Given the description of an element on the screen output the (x, y) to click on. 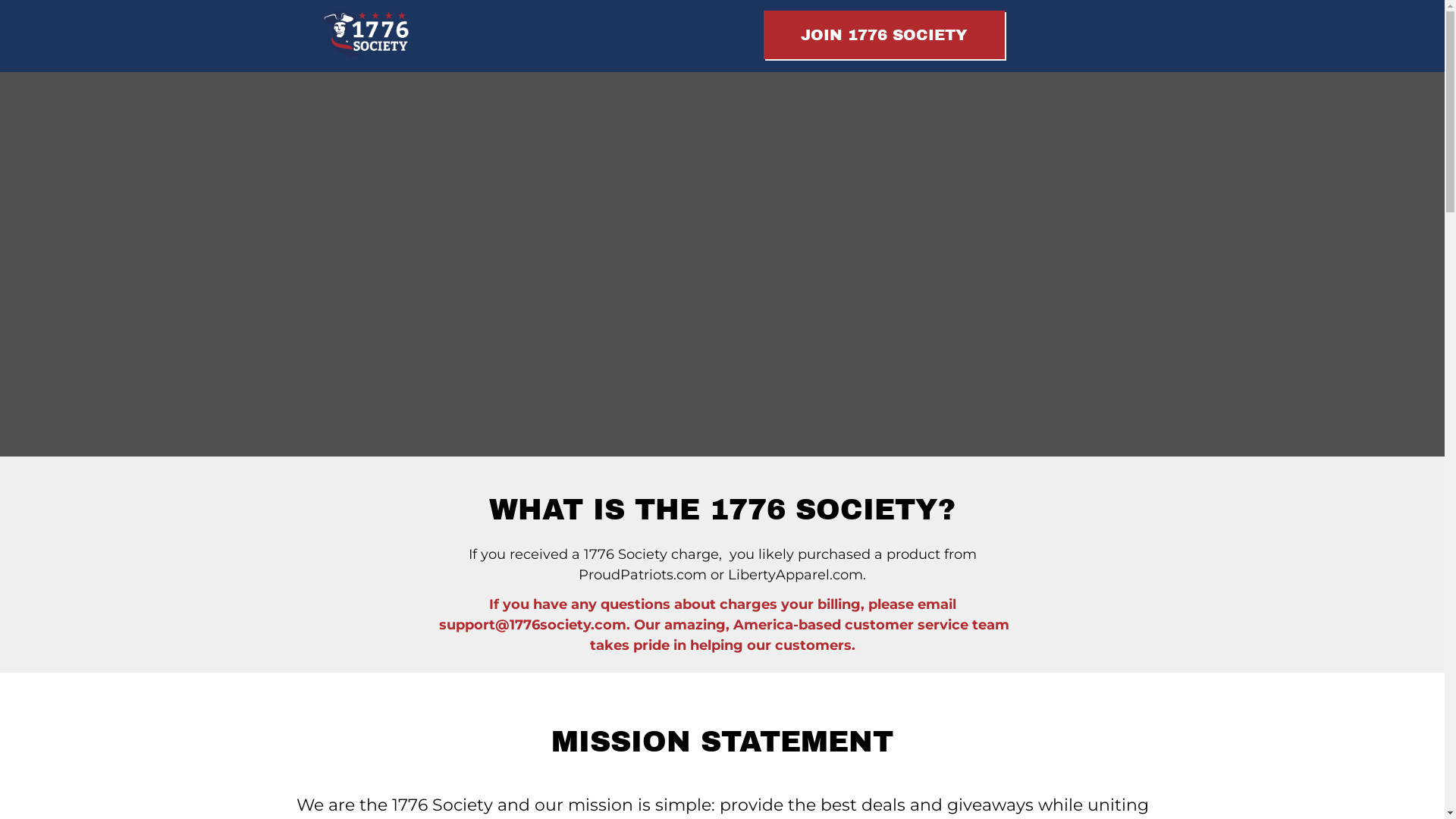
JOIN 1776 SOCIETY Element type: text (883, 34)
